Given the description of an element on the screen output the (x, y) to click on. 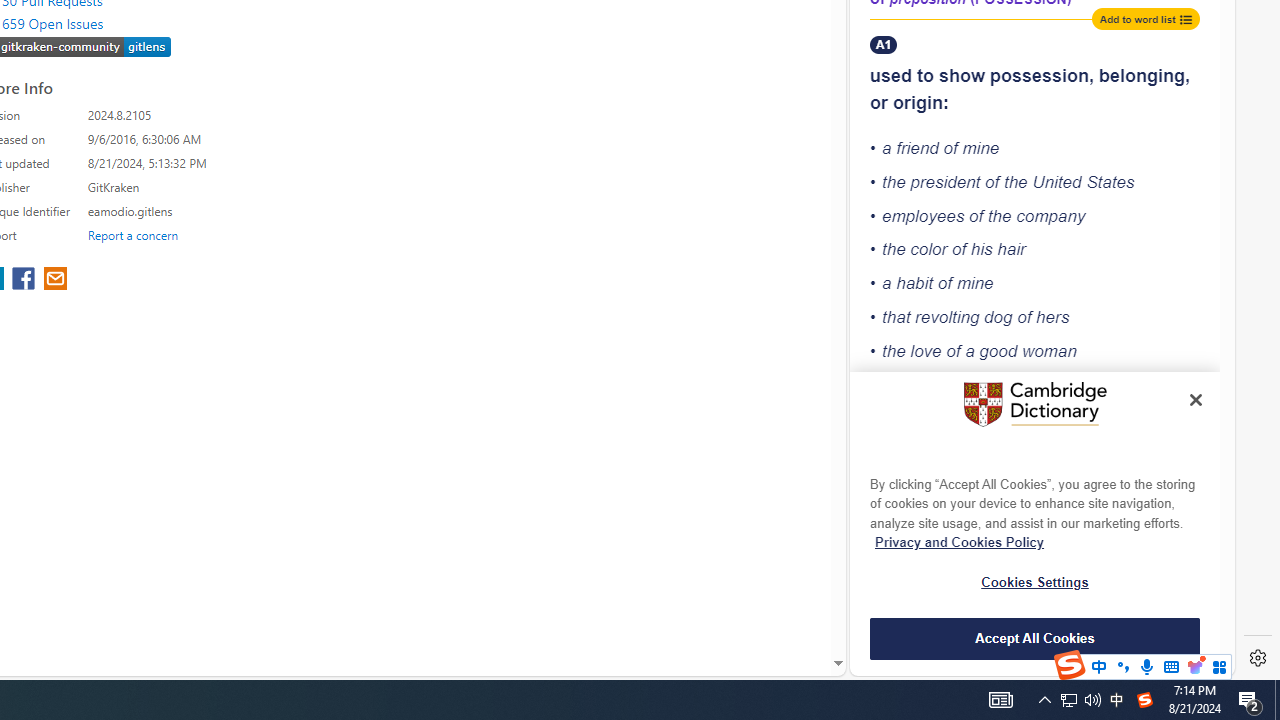
share extension on facebook (26, 280)
smell (1088, 640)
color (929, 249)
name (1012, 606)
OFTV - Enjoy videos from your favorite OF creators! (1034, 604)
Accept All Cookies (1035, 638)
reserved (1065, 490)
friend (917, 147)
States (1110, 182)
OFTV (1034, 587)
Fewer examples (1034, 460)
